Given the description of an element on the screen output the (x, y) to click on. 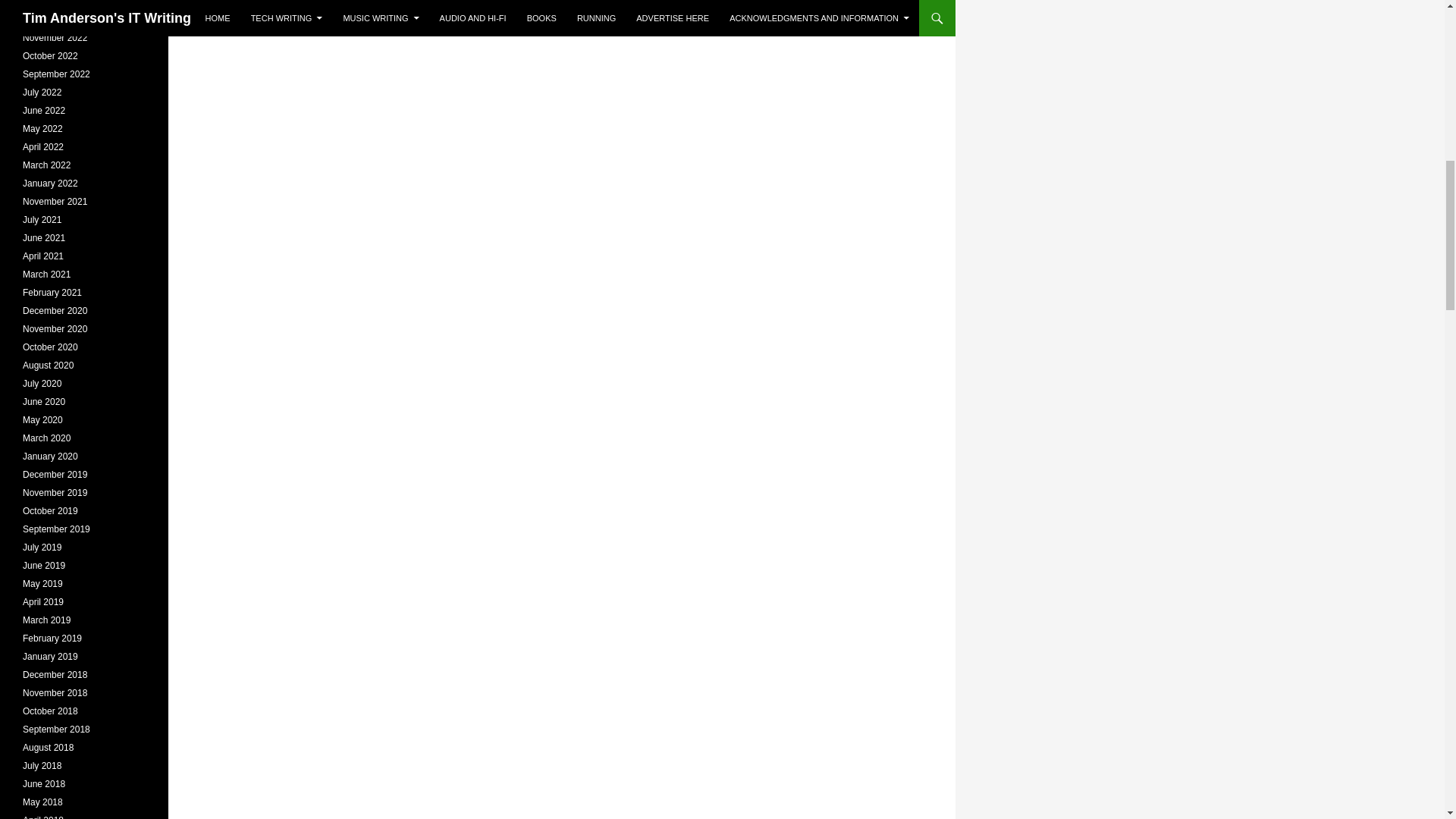
GIADA (280, 26)
WINDOWS (410, 26)
MULTIMEDIA (341, 26)
